Given the description of an element on the screen output the (x, y) to click on. 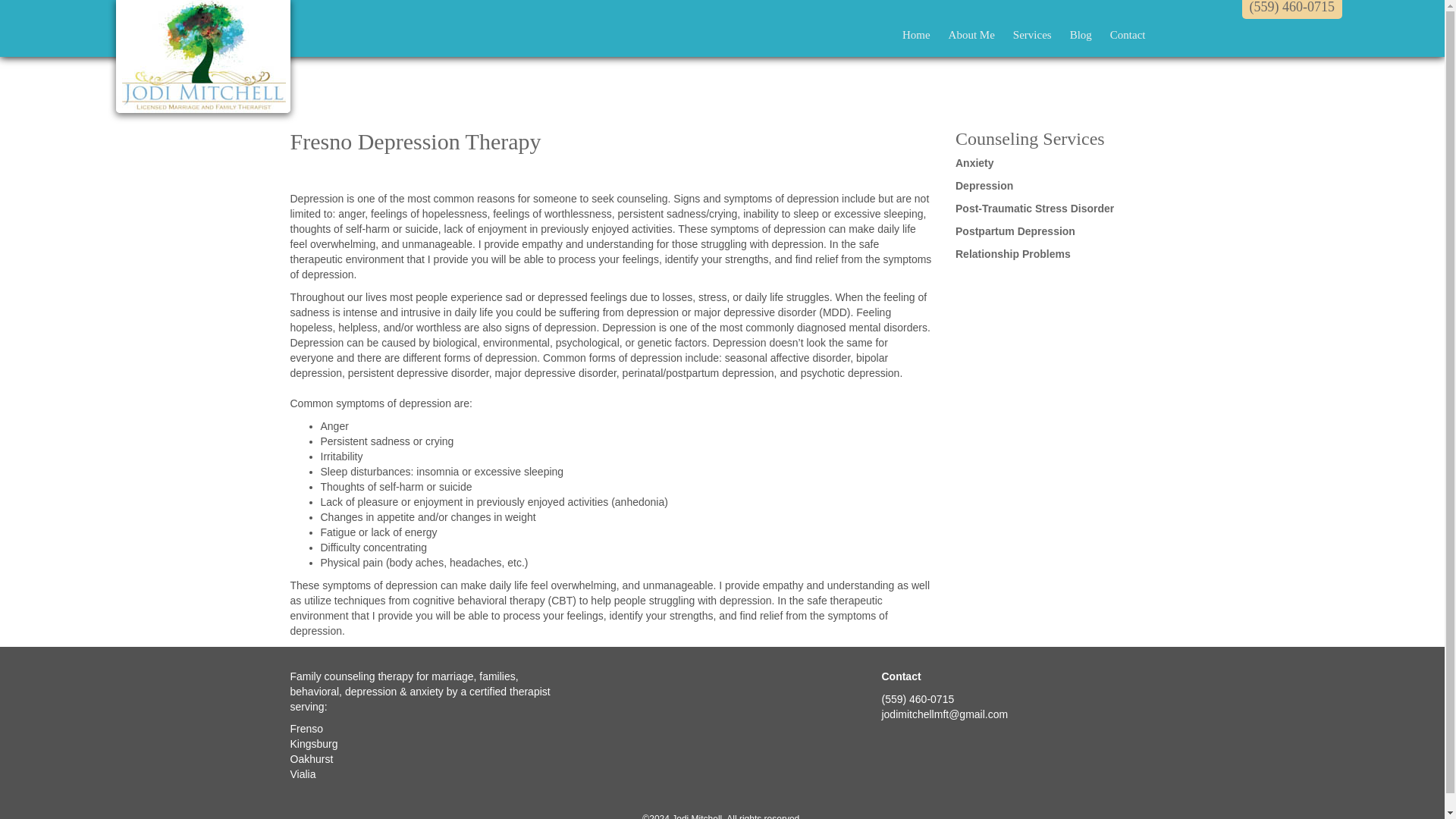
Services (1032, 34)
Blog (1080, 34)
About Me (971, 34)
Contact (1127, 34)
Home (916, 34)
Anxiety (974, 162)
